Given the description of an element on the screen output the (x, y) to click on. 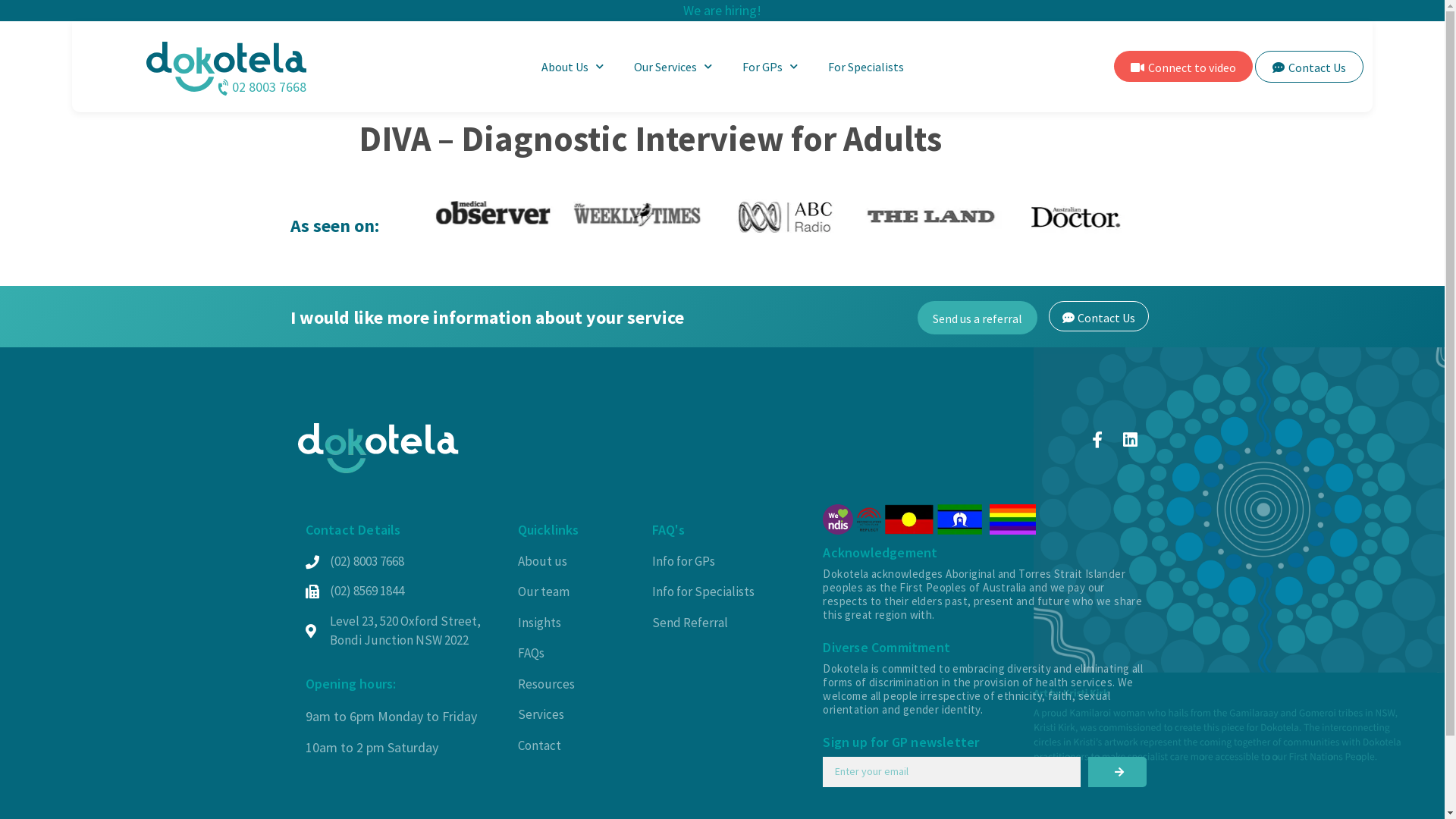
Contact Us Element type: text (1309, 66)
Contact Us Element type: text (1098, 316)
We are hiring! Element type: text (722, 9)
Our team Element type: text (576, 592)
About Us Element type: text (572, 66)
Send us a referral Element type: text (977, 317)
Info for Specialists Element type: text (733, 592)
(02) 8569 1844 Element type: text (403, 591)
Level 23, 520 Oxford Street, Bondi Junction NSW 2022 Element type: text (403, 630)
About us Element type: text (576, 561)
Contact Element type: text (576, 746)
Send Referral Element type: text (733, 623)
Our Services Element type: text (672, 66)
FAQs Element type: text (576, 653)
Insights Element type: text (576, 623)
For Specialists Element type: text (865, 66)
Resources Element type: text (576, 684)
Connect to video Element type: text (1182, 65)
Services Element type: text (576, 714)
For GPs Element type: text (769, 66)
(02) 8003 7668 Element type: text (403, 561)
02 8003 7668 Element type: text (189, 86)
Info for GPs Element type: text (733, 561)
